Given the description of an element on the screen output the (x, y) to click on. 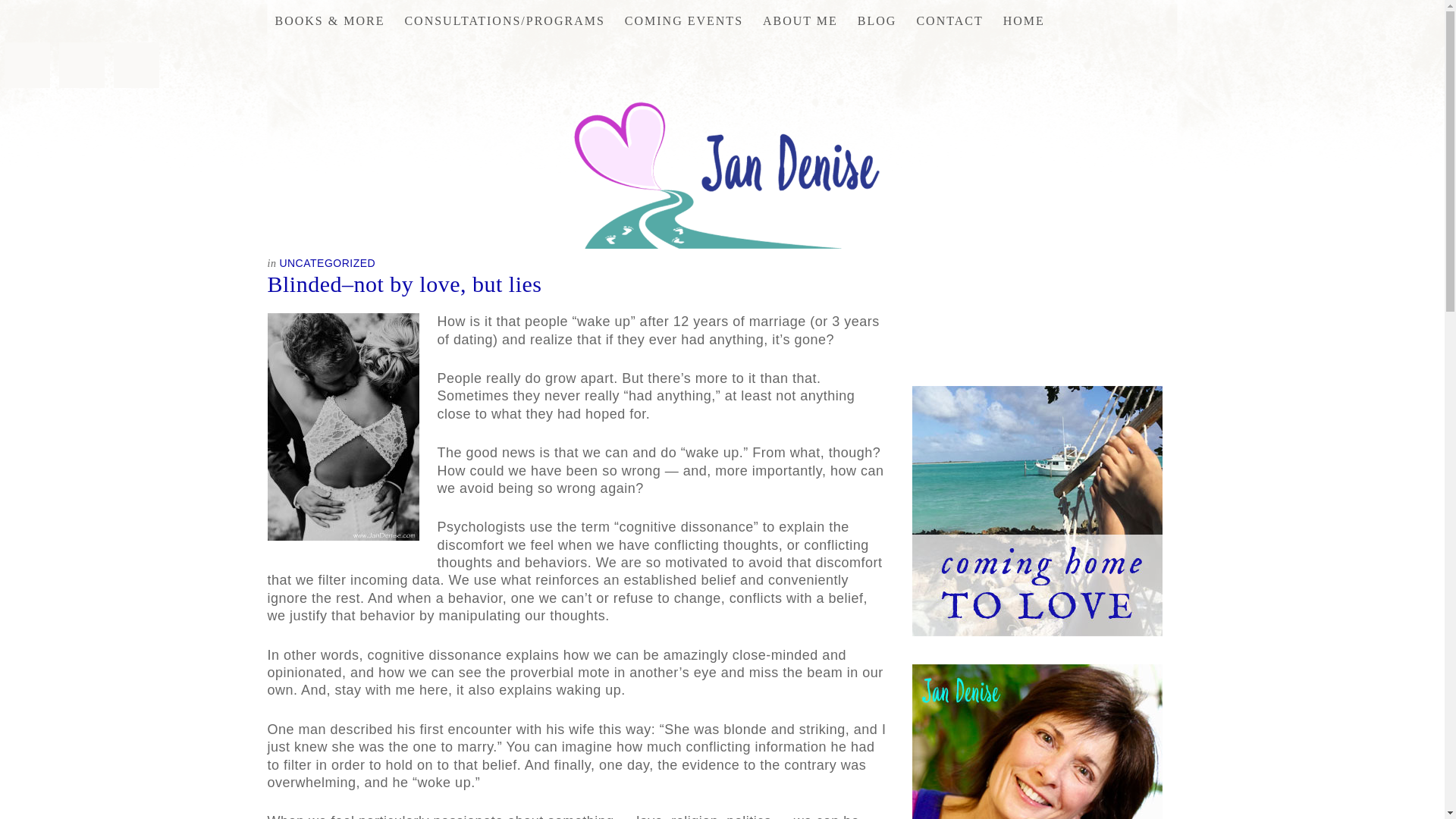
ABOUT ME (800, 21)
COMING EVENTS (684, 21)
CONTACT (949, 21)
HOME (1023, 21)
BLOG (877, 21)
UNCATEGORIZED (327, 263)
